Given the description of an element on the screen output the (x, y) to click on. 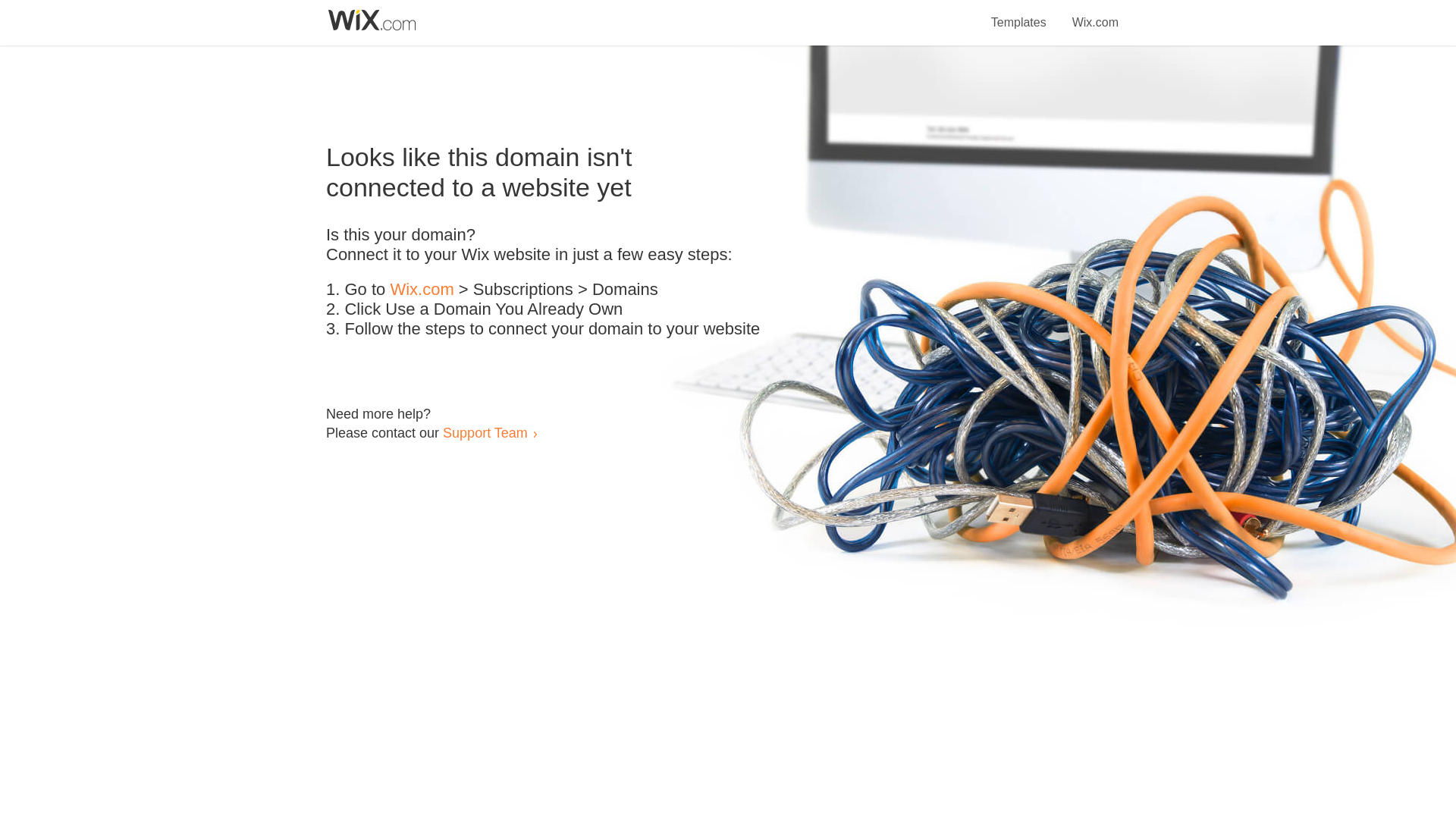
Templates (1018, 14)
Wix.com (421, 289)
Support Team (484, 432)
Wix.com (1095, 14)
